Given the description of an element on the screen output the (x, y) to click on. 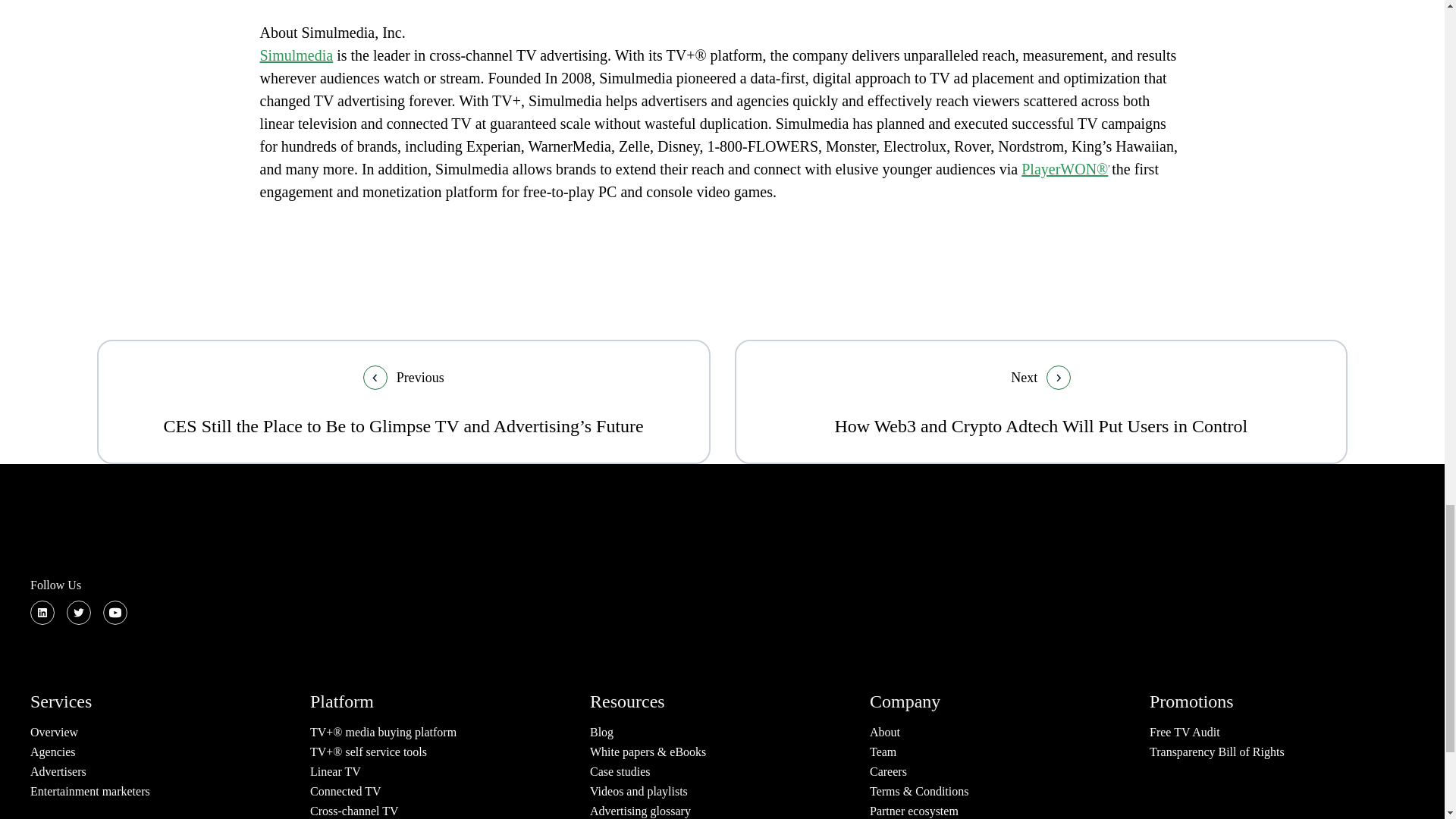
Careers (888, 771)
Agencies (52, 751)
Find Simulmedia on Twitter (78, 612)
Simulmedia (331, 66)
Advertising glossary (639, 810)
Case studies (619, 771)
Linear TV (335, 771)
Advertisers (57, 771)
Team (882, 751)
Videos and playlists (638, 790)
